Given the description of an element on the screen output the (x, y) to click on. 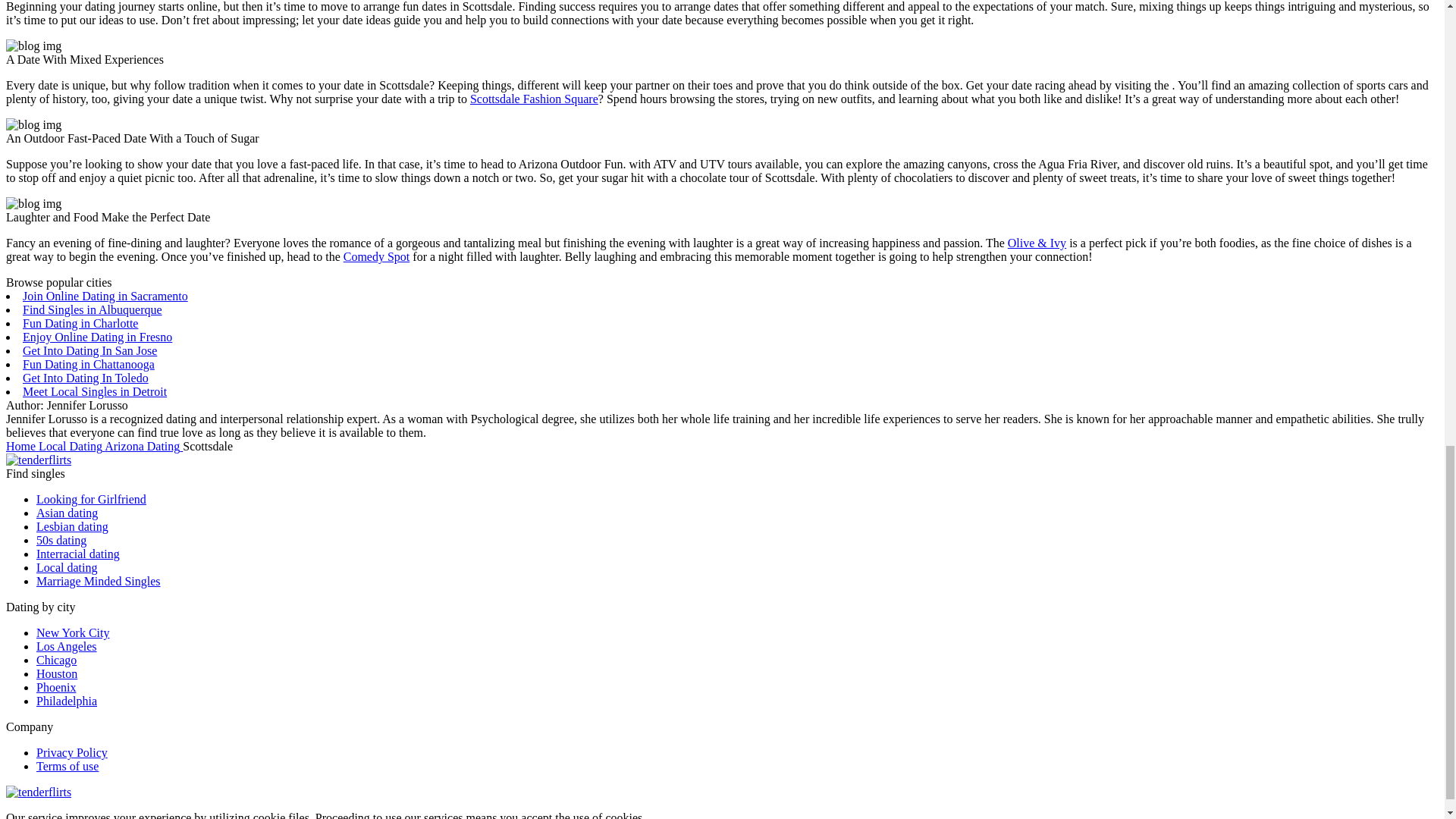
Looking for Girlfriend (91, 499)
Scottsdale Fashion Square (534, 98)
Local dating (66, 567)
Lesbian dating (71, 526)
Find Singles in Albuquerque (92, 309)
Get Into Dating In San Jose (90, 350)
Find Singles in Albuquerque (92, 309)
50s dating (60, 540)
Home (22, 445)
Get Into Dating In Toledo (85, 377)
